Given the description of an element on the screen output the (x, y) to click on. 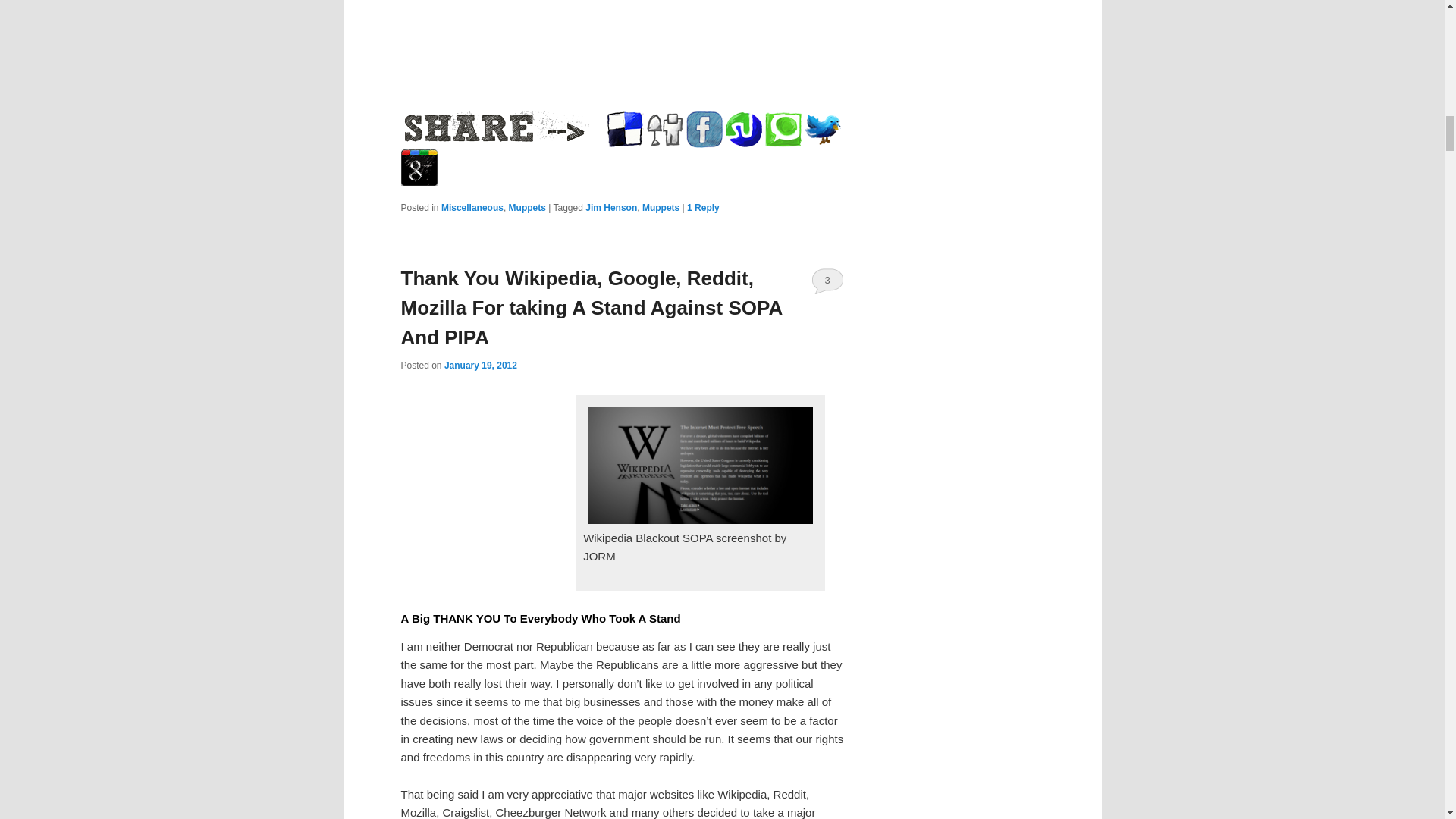
Miscellaneous (472, 207)
Digg (664, 129)
Twitter (821, 129)
del.icio.us (625, 129)
Technorati (782, 129)
1 Reply (703, 207)
StumbleUpon (743, 129)
Facebook (703, 129)
Muppets (660, 207)
Jim Henson (611, 207)
